Given the description of an element on the screen output the (x, y) to click on. 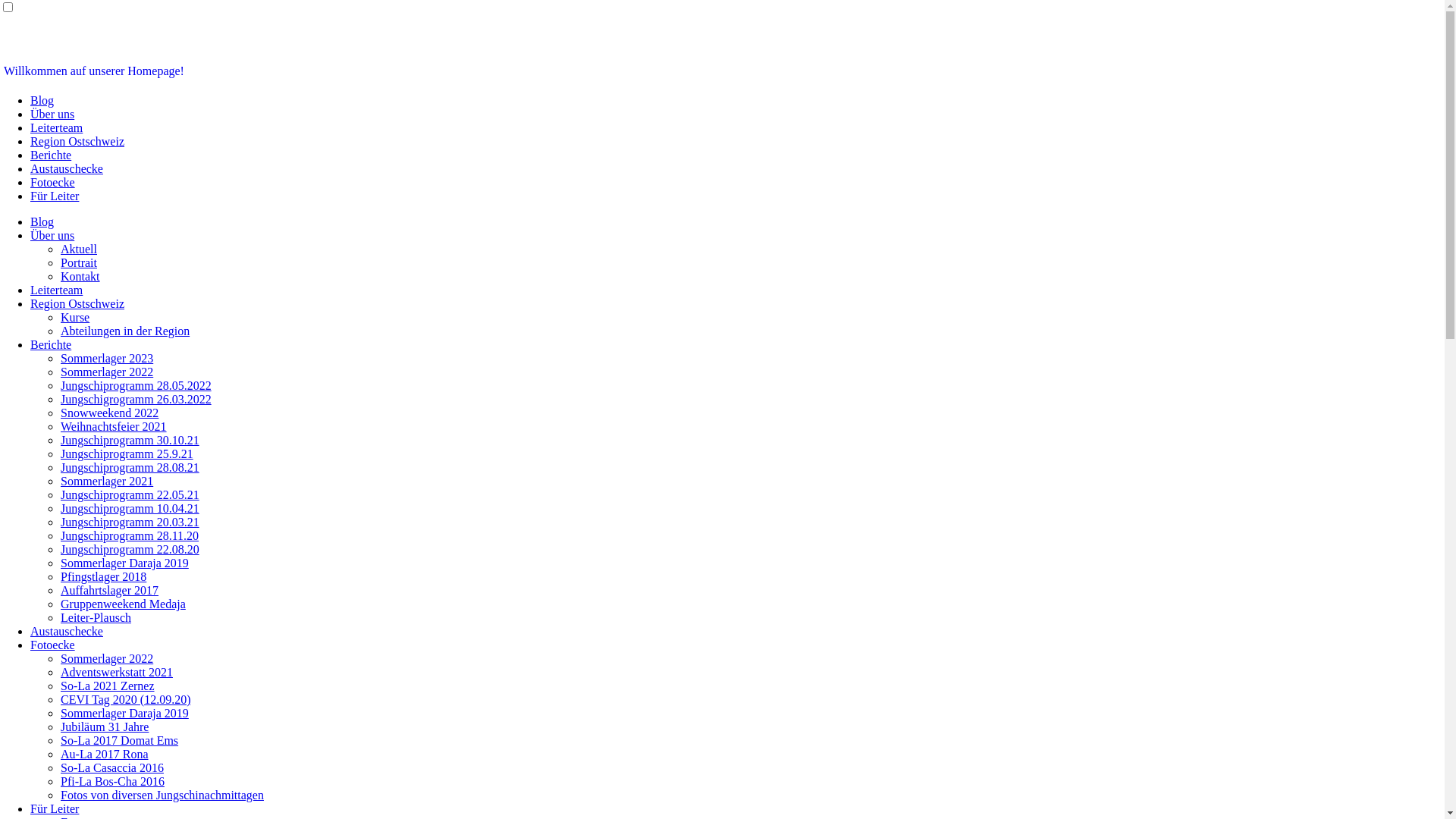
Sommerlager 2021 Element type: text (106, 480)
Kurse Element type: text (74, 316)
Region Ostschweiz Element type: text (77, 140)
Snowweekend 2022 Element type: text (109, 412)
Austauschecke Element type: text (66, 630)
Leiterteam Element type: text (56, 289)
Berichte Element type: text (50, 344)
Sommerlager 2022 Element type: text (106, 371)
Berichte Element type: text (50, 154)
So-La 2021 Zernez Element type: text (107, 685)
Jungschiprogramm 28.11.20 Element type: text (129, 535)
Jungschiprogramm 22.05.21 Element type: text (129, 494)
Jungschigrogramm 26.03.2022 Element type: text (135, 398)
Kontakt Element type: text (80, 275)
Fotoecke Element type: text (52, 181)
Austauschecke Element type: text (66, 168)
Blog Element type: text (41, 221)
Leiterteam Element type: text (56, 127)
Willkommen auf unserer Homepage! Element type: text (93, 70)
Jungschiprogramm 10.04.21 Element type: text (129, 508)
Aktuell Element type: text (78, 248)
Jungschiprogramm 28.08.21 Element type: text (129, 467)
Fotoecke Element type: text (52, 644)
Adventswerkstatt 2021 Element type: text (116, 671)
Portrait Element type: text (78, 262)
Jungschiprogramm 28.05.2022 Element type: text (135, 385)
Pfi-La Bos-Cha 2016 Element type: text (112, 781)
Blog Element type: text (41, 100)
Abteilungen in der Region Element type: text (124, 330)
Sommerlager 2022 Element type: text (106, 658)
Au-La 2017 Rona Element type: text (104, 753)
So-La Casaccia 2016 Element type: text (111, 767)
Leiter-Plausch Element type: text (95, 617)
Pfingstlager 2018 Element type: text (103, 576)
CEVI Tag 2020 (12.09.20) Element type: text (125, 699)
Weihnachtsfeier 2021 Element type: text (113, 426)
Sommerlager Daraja 2019 Element type: text (124, 562)
Jungschiprogramm 25.9.21 Element type: text (126, 453)
Jungschiprogramm 22.08.20 Element type: text (129, 548)
Sommerlager Daraja 2019 Element type: text (124, 712)
Jungschiprogramm 30.10.21 Element type: text (129, 439)
Auffahrtslager 2017 Element type: text (109, 589)
Region Ostschweiz Element type: text (77, 303)
Fotos von diversen Jungschinachmittagen Element type: text (161, 794)
Sommerlager 2023 Element type: text (106, 357)
Jungschiprogramm 20.03.21 Element type: text (129, 521)
So-La 2017 Domat Ems Element type: text (119, 740)
Gruppenweekend Medaja Element type: text (122, 603)
